Given the description of an element on the screen output the (x, y) to click on. 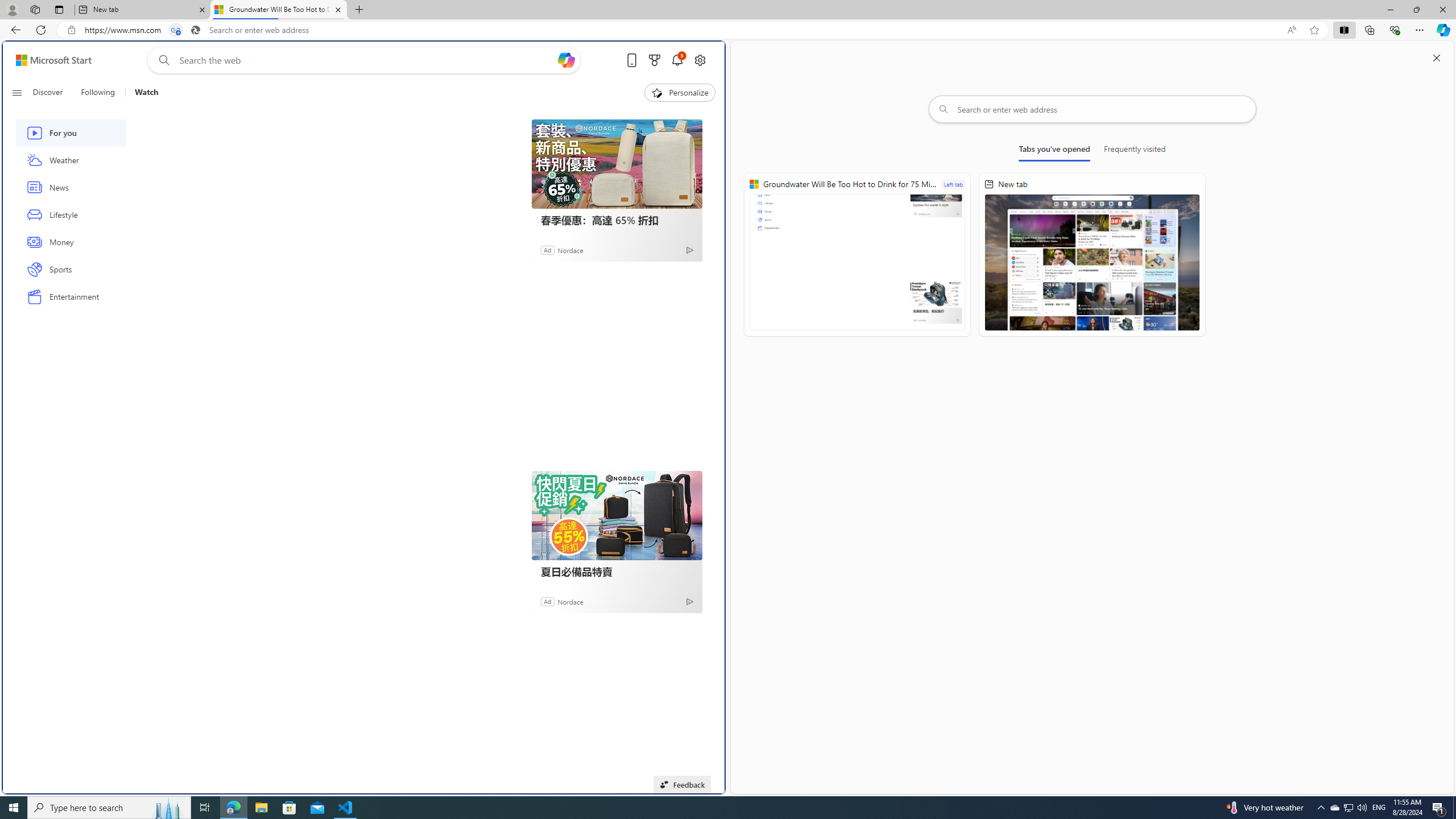
Personalize (679, 92)
Discover (52, 92)
Search or enter web address (1092, 108)
App bar (728, 29)
Watch (145, 92)
Ad (547, 601)
Enter your search term (366, 59)
Ad Choice (689, 601)
Skip to content (49, 59)
